Given the description of an element on the screen output the (x, y) to click on. 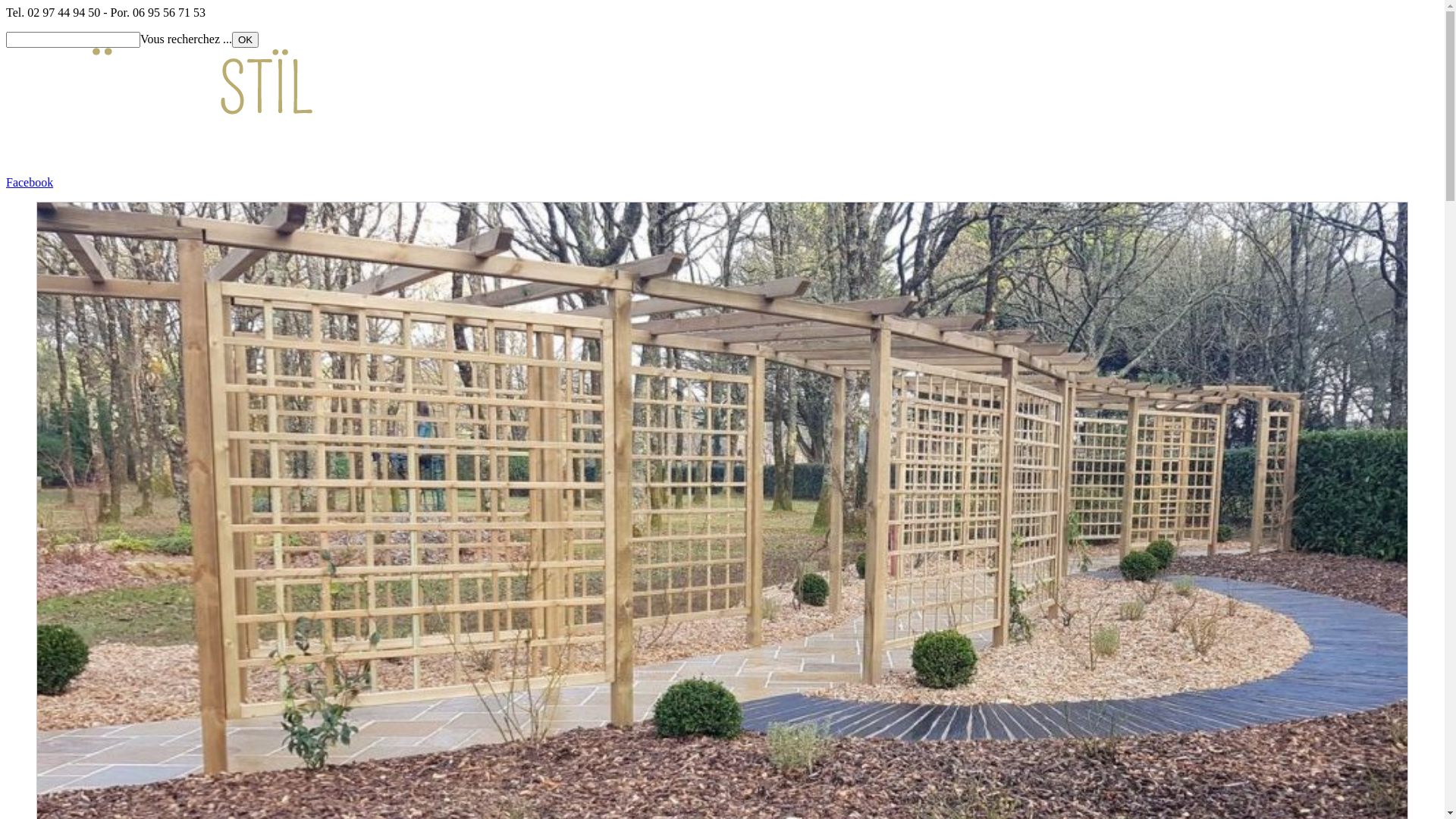
OK Element type: text (245, 39)
Facebook Element type: text (29, 181)
